Given the description of an element on the screen output the (x, y) to click on. 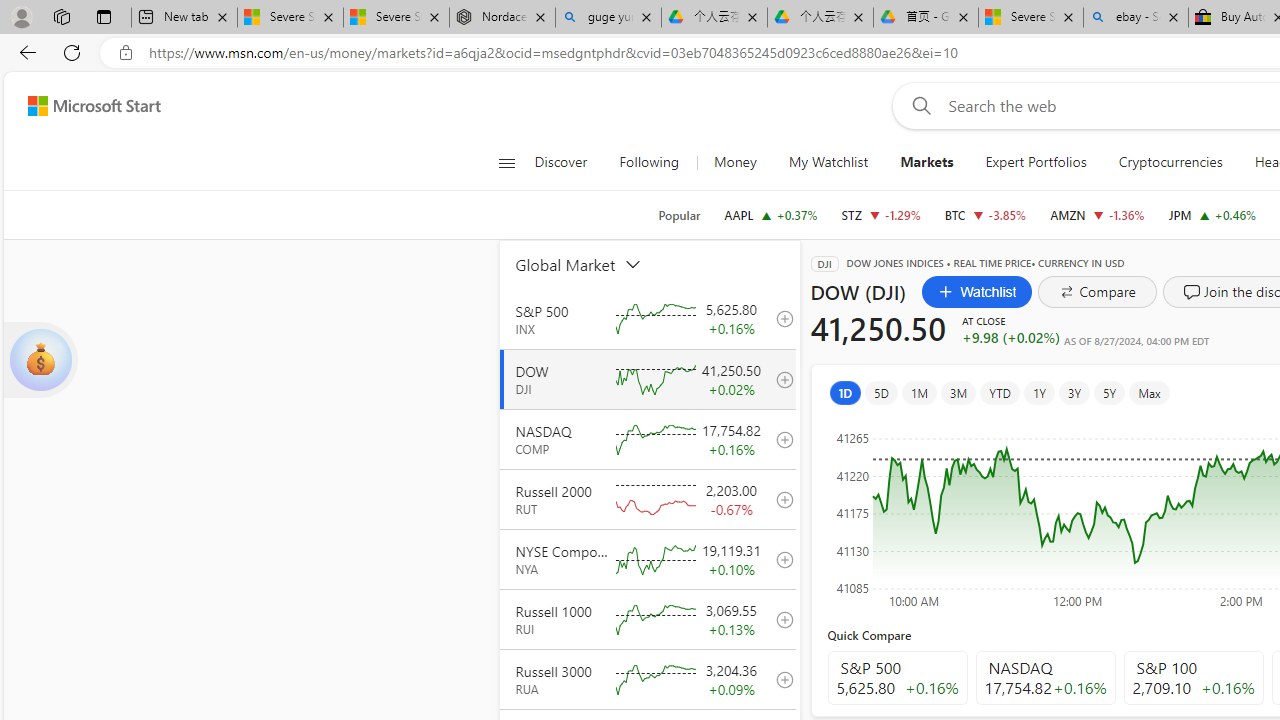
AMZN AMAZON.COM, INC. decrease 173.12 -2.38 -1.36% (1097, 214)
Expert Portfolios (1035, 162)
3Y (1074, 392)
3M (958, 392)
My Watchlist (828, 162)
My Watchlist (827, 162)
Compare (1097, 291)
